Given the description of an element on the screen output the (x, y) to click on. 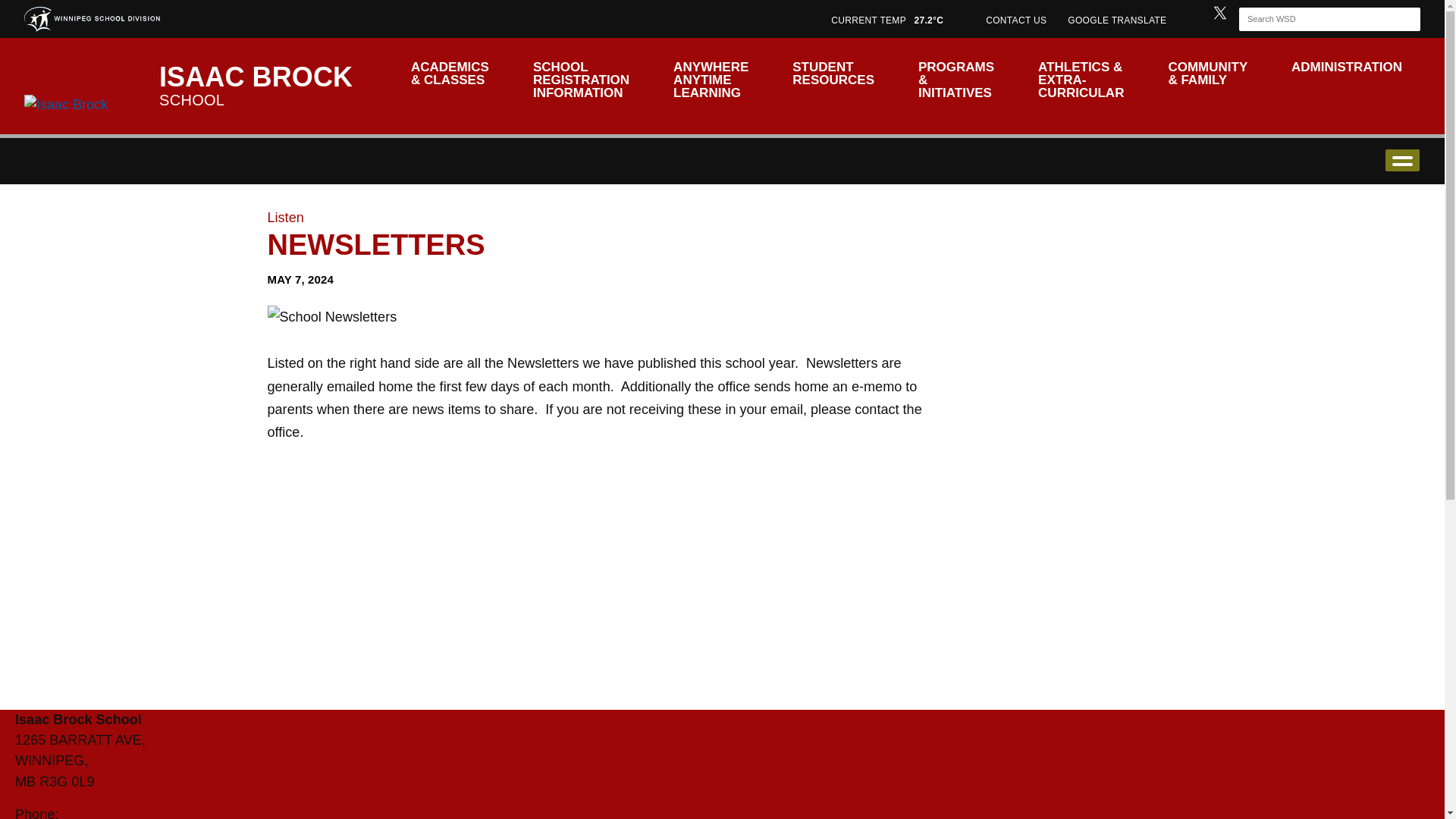
GOOGLE TRANSLATE (1120, 18)
CONTACT US (1016, 18)
Listen to this page using ReadSpeaker webReader (284, 217)
